Given the description of an element on the screen output the (x, y) to click on. 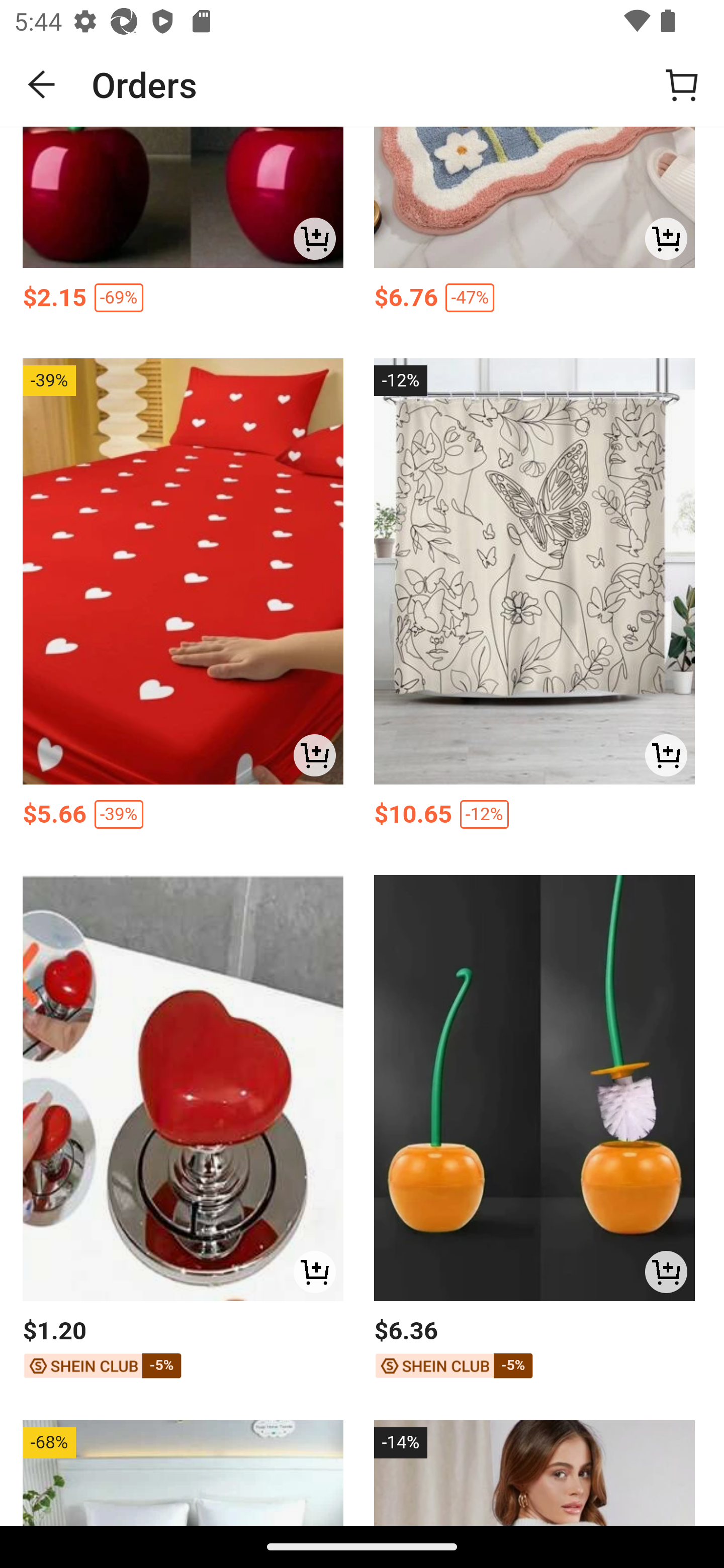
BACK (42, 84)
Cart (681, 84)
$2.15 -69% (182, 300)
$6.76 -47% (534, 300)
$5.66 -39% (182, 818)
$10.65 -12% (534, 818)
$1.20 sui_icon_paidmember_Label@3x-91f33d47f8 -5% (182, 1349)
$6.36 sui_icon_paidmember_Label@3x-91f33d47f8 -5% (534, 1349)
